Given the description of an element on the screen output the (x, y) to click on. 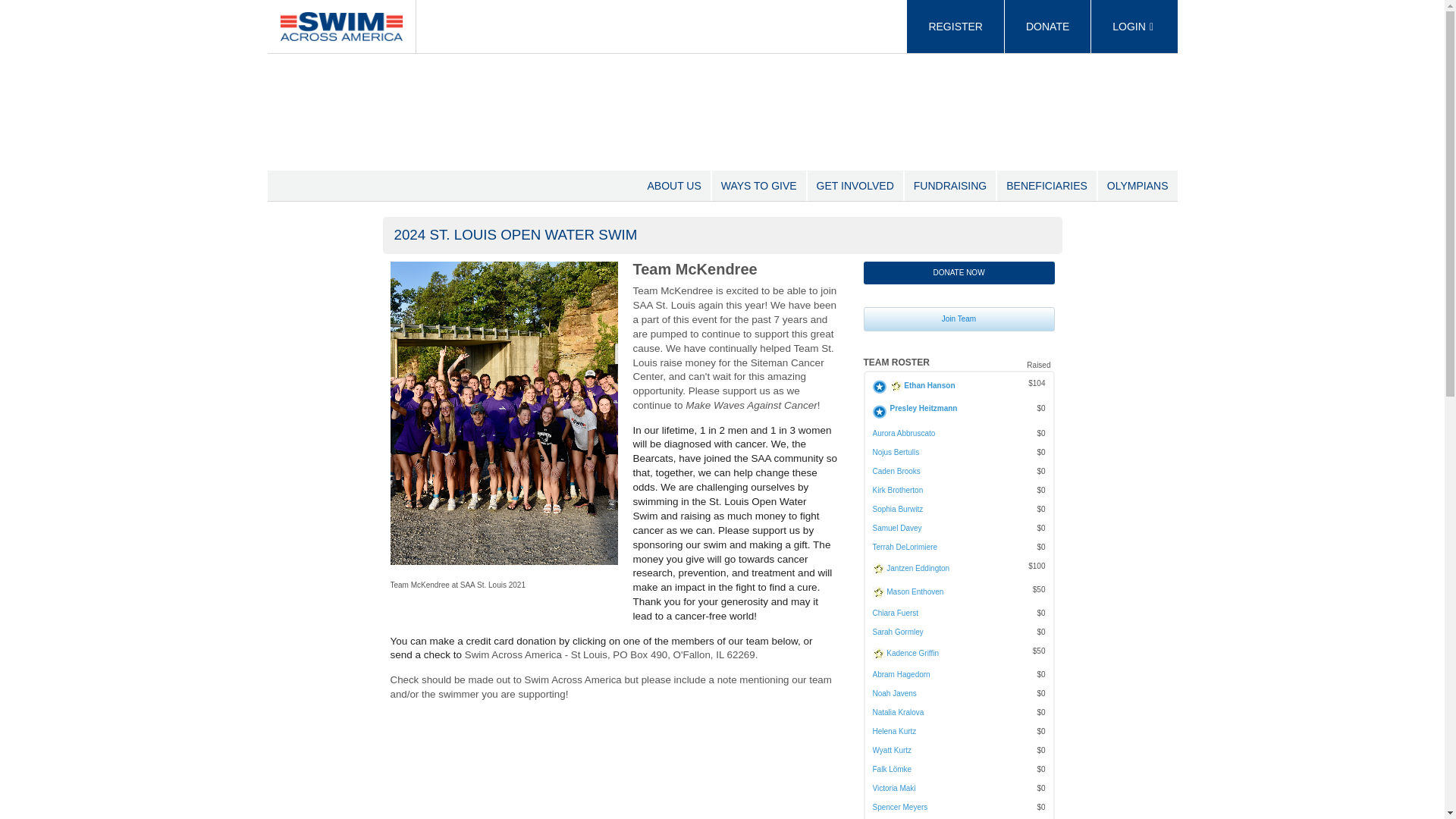
Ethan Hanson (929, 385)
OLYMPIANS (1137, 185)
Samuel Davey (896, 528)
Fundraiser Kickstarter (877, 653)
FUNDRAISING (949, 185)
Sarah Gormley (897, 632)
Sophia Burwitz (897, 509)
REGISTER (955, 26)
Chiara Fuerst (895, 613)
Abram Hagedorn (901, 674)
Presley Heitzmann (923, 408)
WAYS TO GIVE (758, 185)
Fundraiser Kickstarter (877, 568)
Jantzen Eddington (917, 568)
DONATE NOW (958, 272)
